Given the description of an element on the screen output the (x, y) to click on. 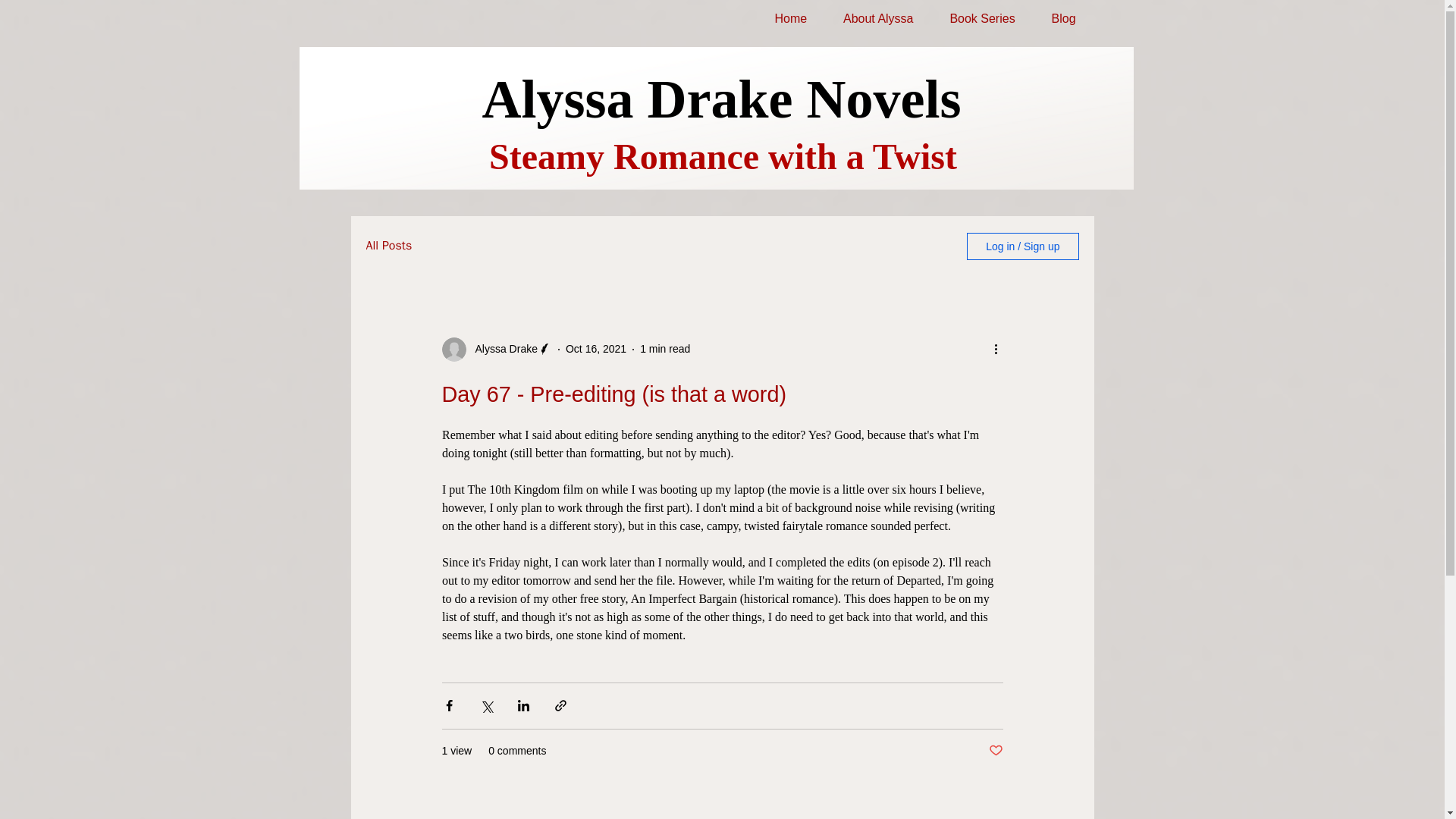
Oct 16, 2021 (596, 348)
Blog (1063, 18)
Alyssa Drake (501, 349)
About Alyssa (878, 18)
Book Series (981, 18)
All Posts (388, 245)
Home (791, 18)
Post not marked as liked (995, 750)
1 min read (665, 348)
